Given the description of an element on the screen output the (x, y) to click on. 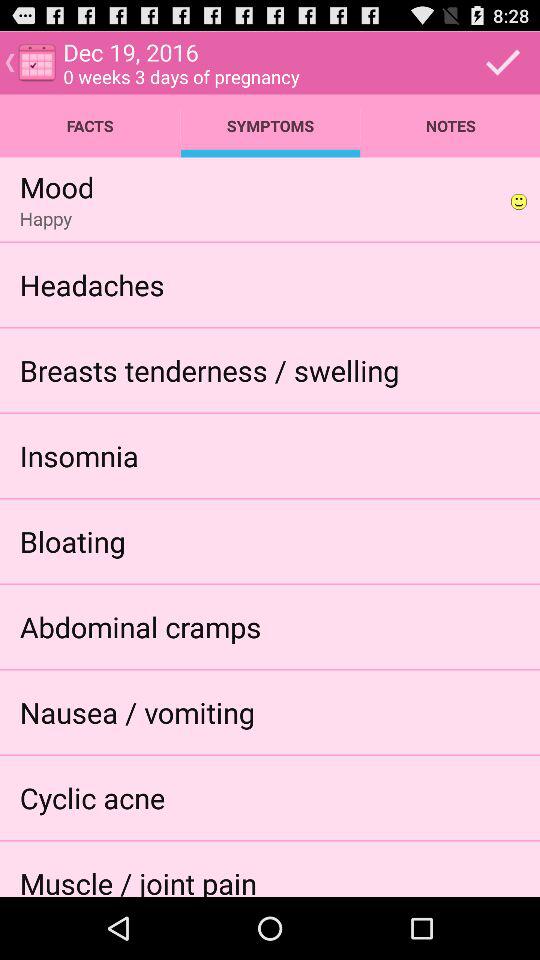
choose icon below the happy item (91, 284)
